Given the description of an element on the screen output the (x, y) to click on. 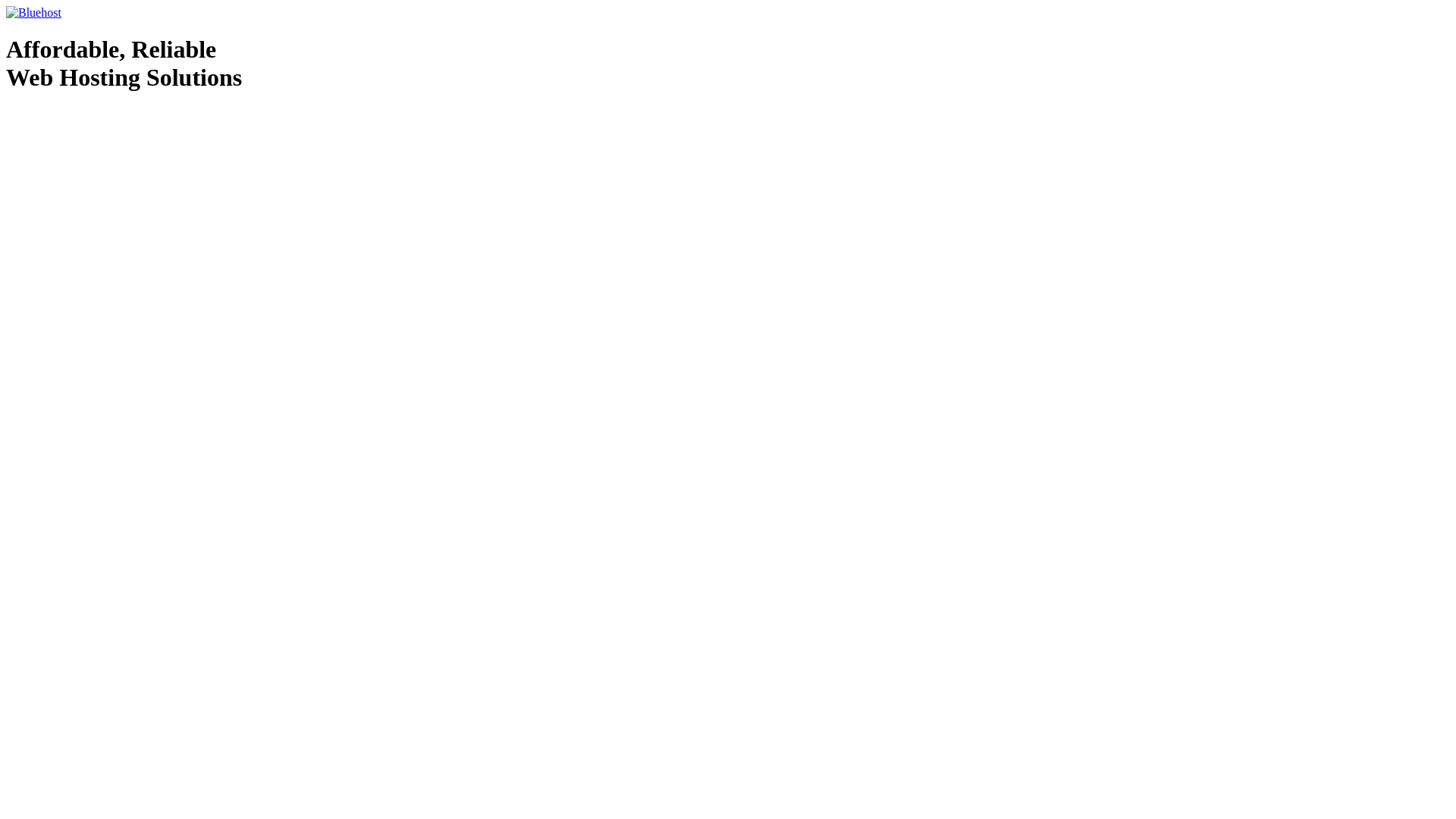
Web Hosting - courtesy of Element type: text (56, 115)
